Given the description of an element on the screen output the (x, y) to click on. 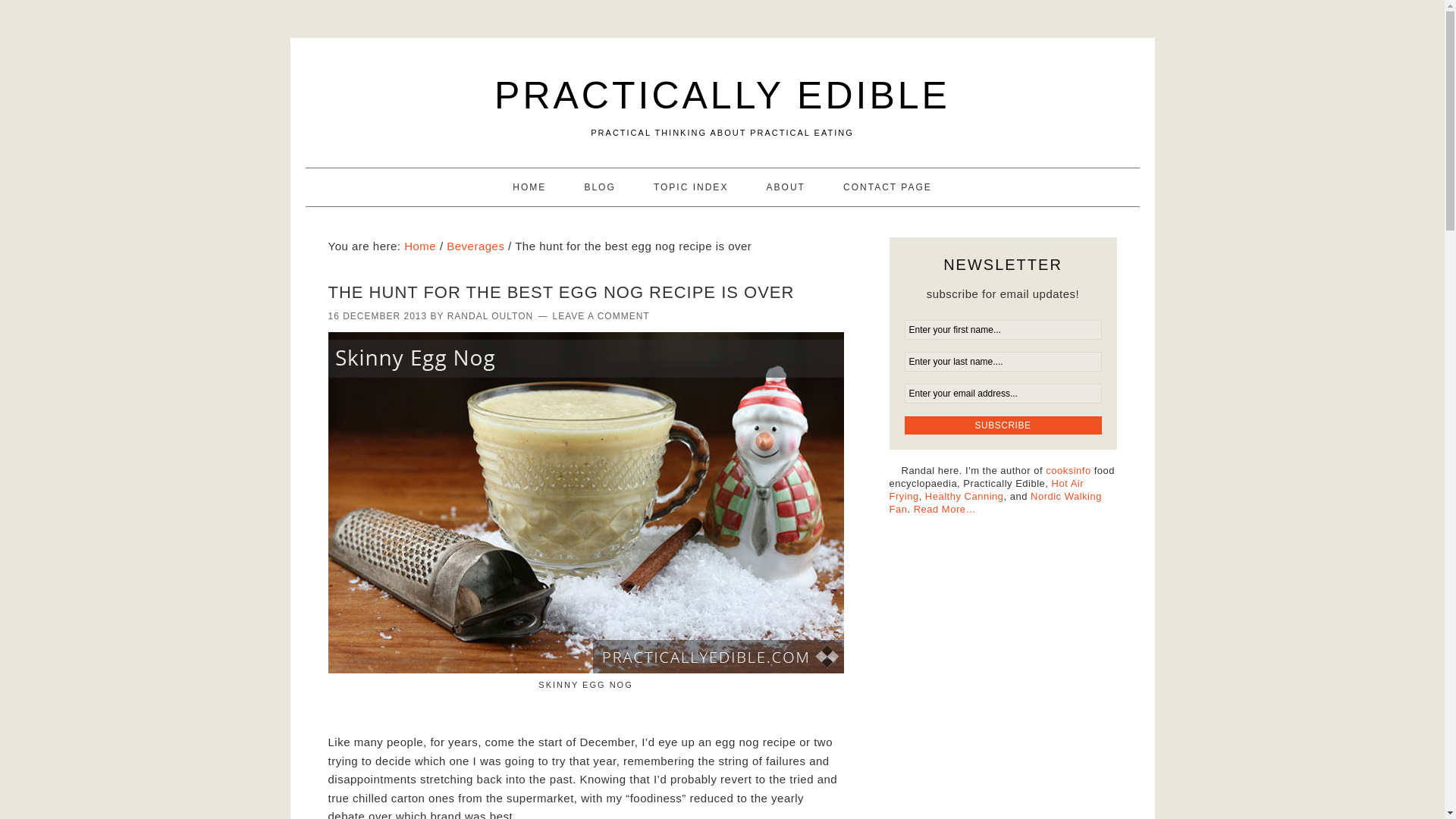
HOME (529, 187)
Beverages (474, 245)
ABOUT (785, 187)
Subscribe (1002, 425)
Subscribe (1002, 425)
Healthy Canning (964, 496)
Home (419, 245)
PRACTICALLY EDIBLE (722, 95)
LEAVE A COMMENT (601, 316)
BLOG (599, 187)
